Given the description of an element on the screen output the (x, y) to click on. 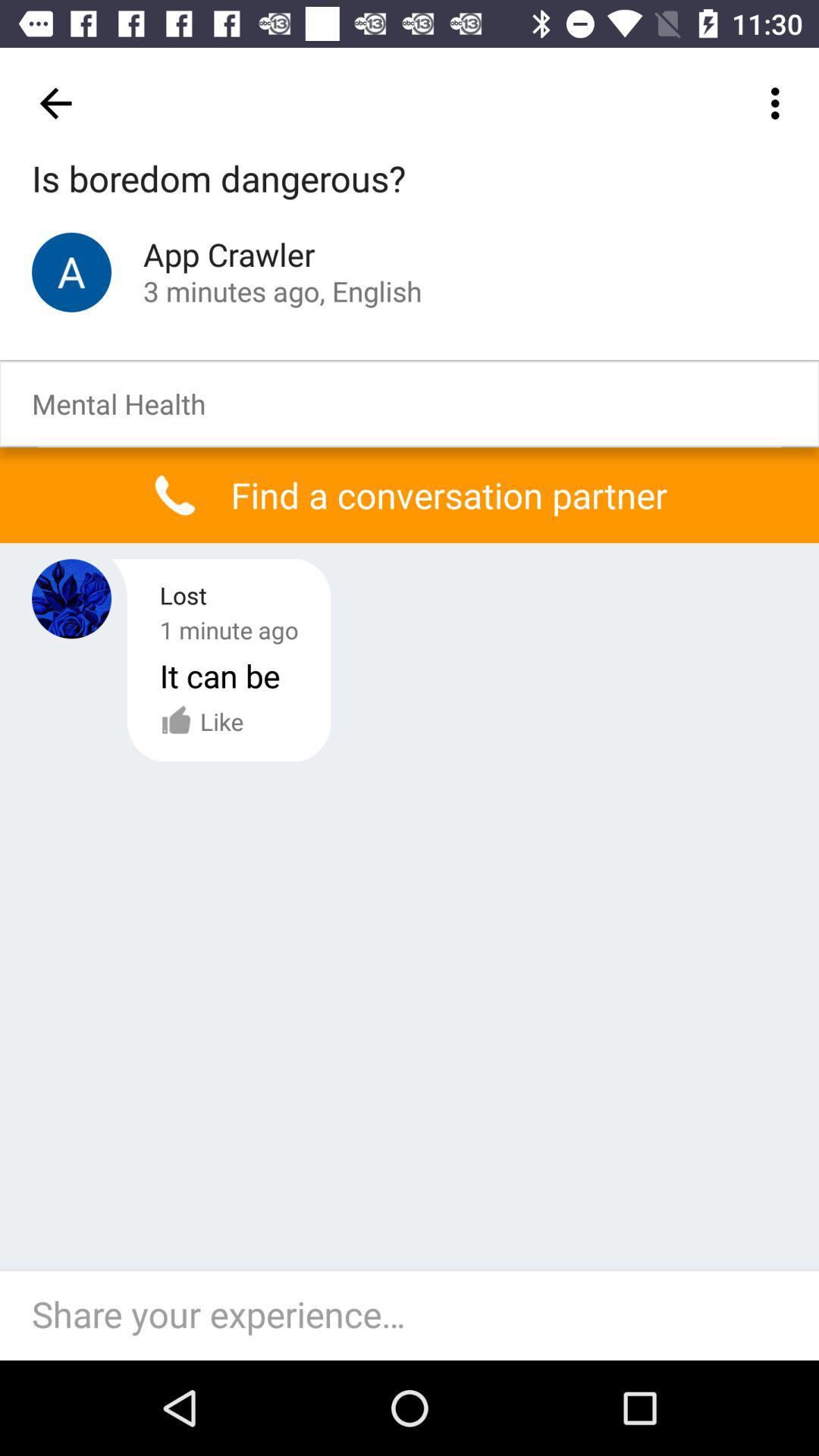
share your experience (417, 1315)
